Given the description of an element on the screen output the (x, y) to click on. 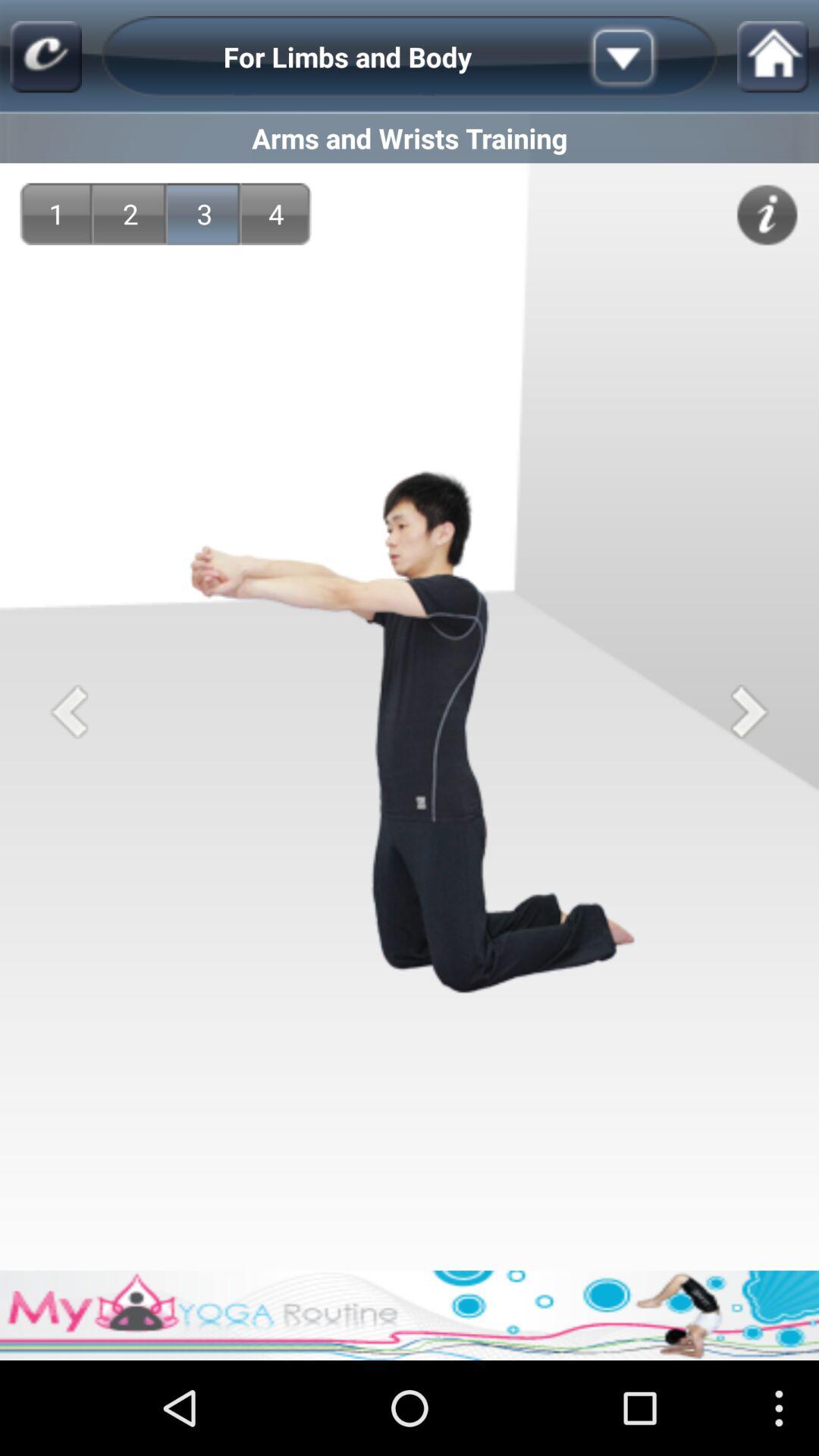
open the app above the arms and wrists item (646, 56)
